Given the description of an element on the screen output the (x, y) to click on. 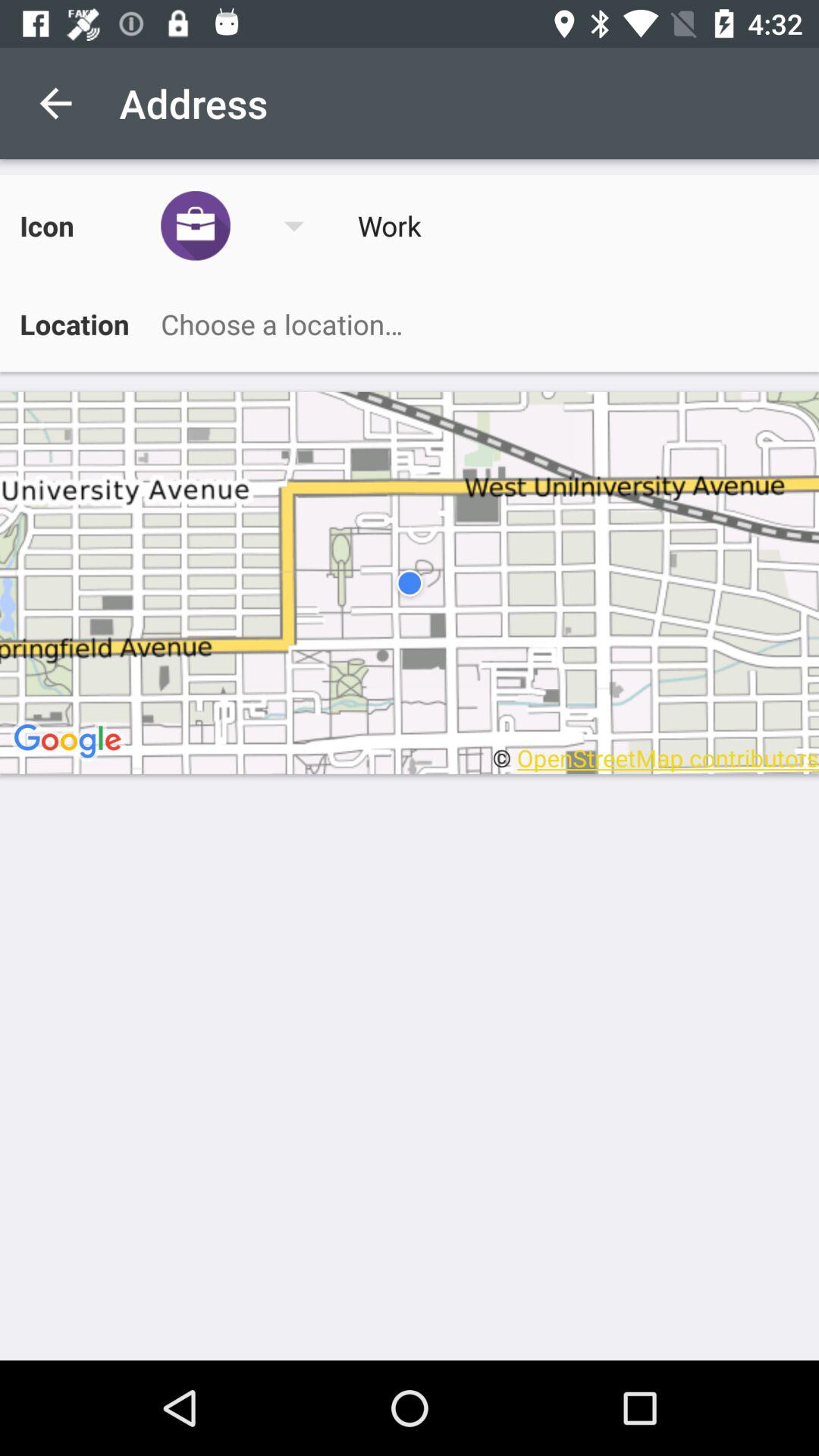
choose a location (472, 323)
